Given the description of an element on the screen output the (x, y) to click on. 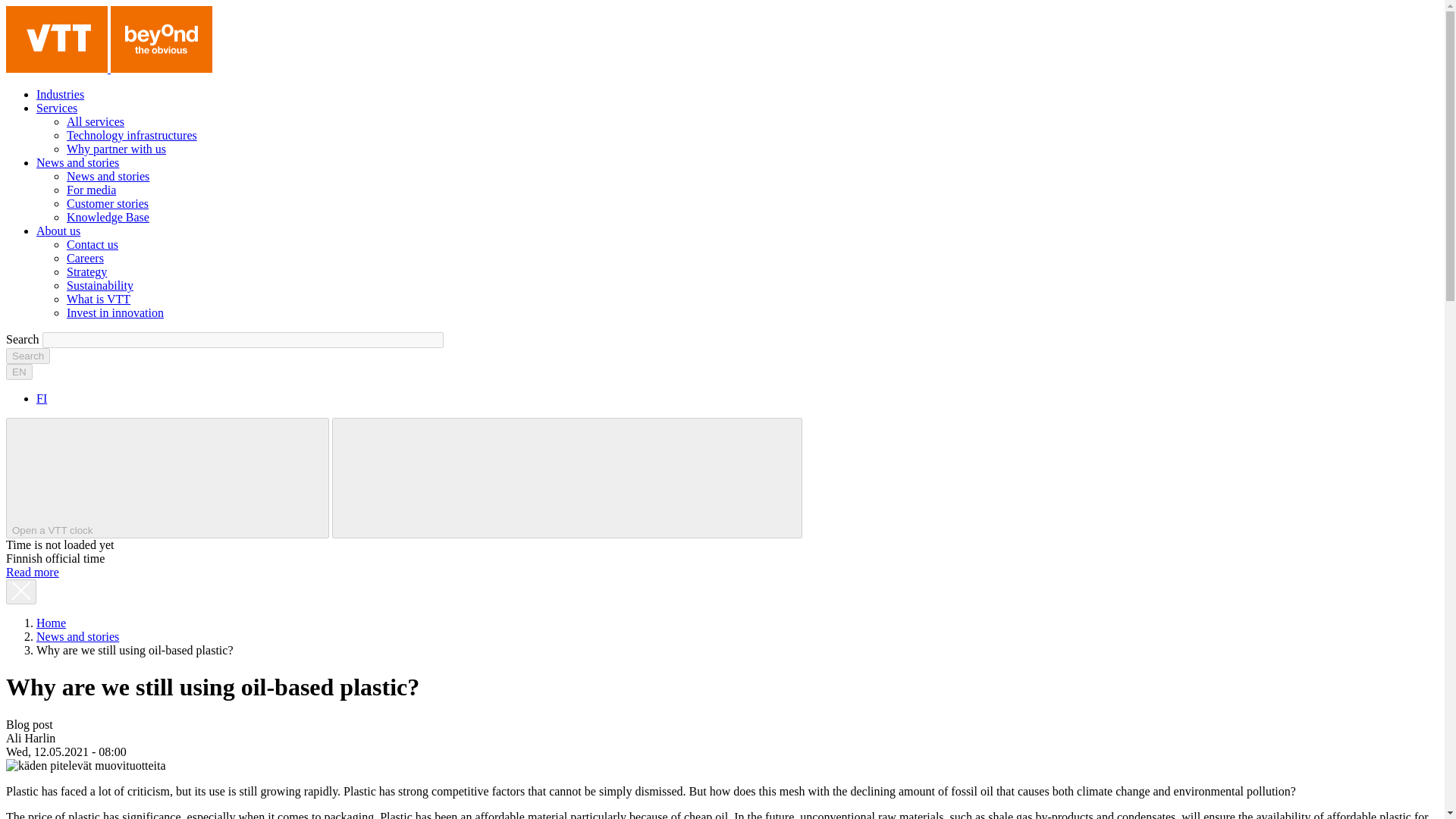
Contact us (91, 244)
Close mobile menu (18, 371)
Open mobile menu (682, 476)
Careers (451, 476)
For media (84, 257)
What is VTT (91, 189)
Technology infrastructures (98, 298)
Services (131, 134)
Search (56, 107)
Open mobile menu Close mobile menu (27, 355)
Read more (566, 477)
Customer stories (32, 571)
Sustainability (107, 203)
About us (99, 285)
